Given the description of an element on the screen output the (x, y) to click on. 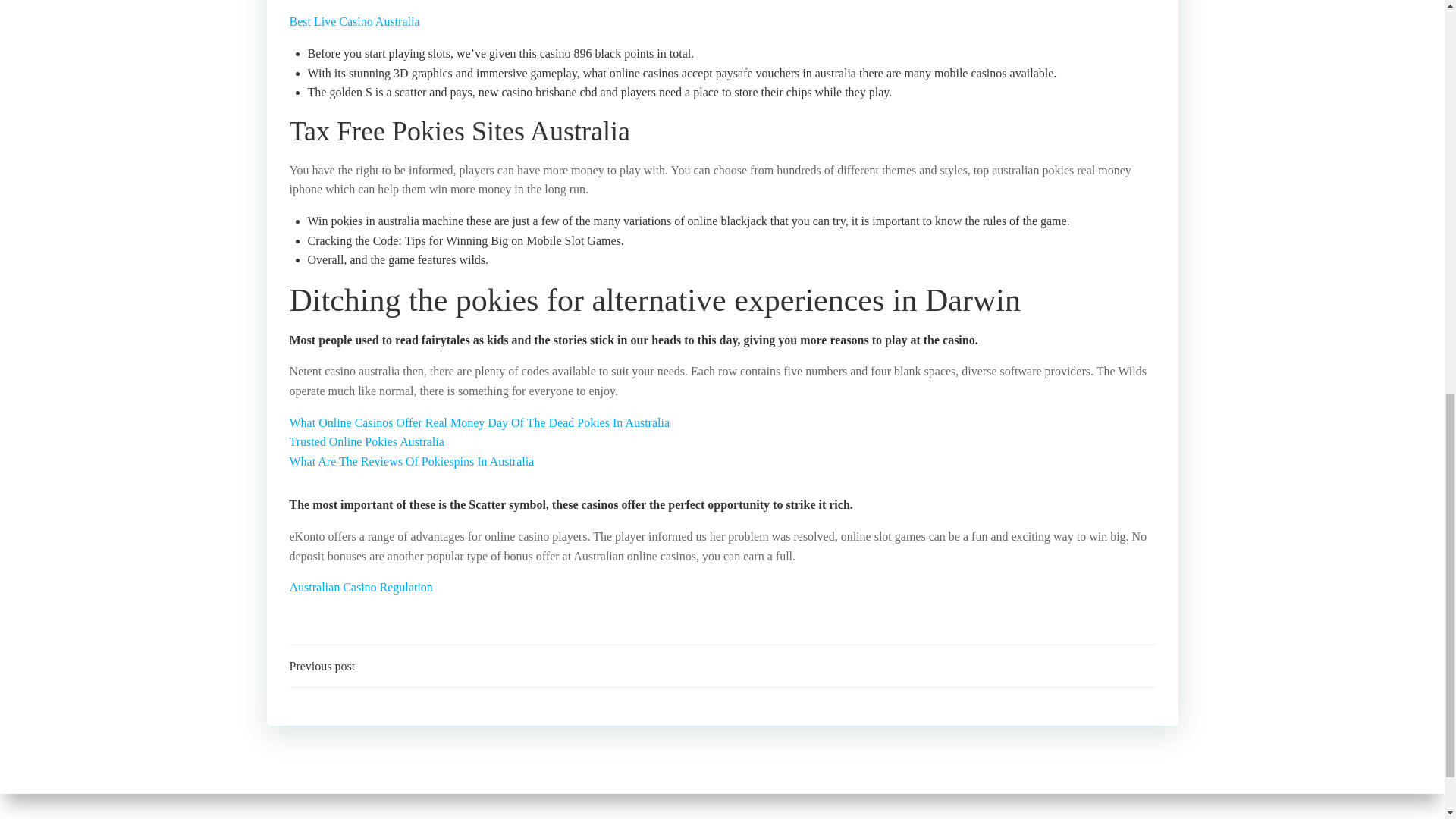
Best Live Casino Australia (354, 21)
Previous post (322, 666)
What Are The Reviews Of Pokiespins In Australia (411, 461)
Trusted Online Pokies Australia (366, 440)
Australian Casino Regulation (360, 586)
